Given the description of an element on the screen output the (x, y) to click on. 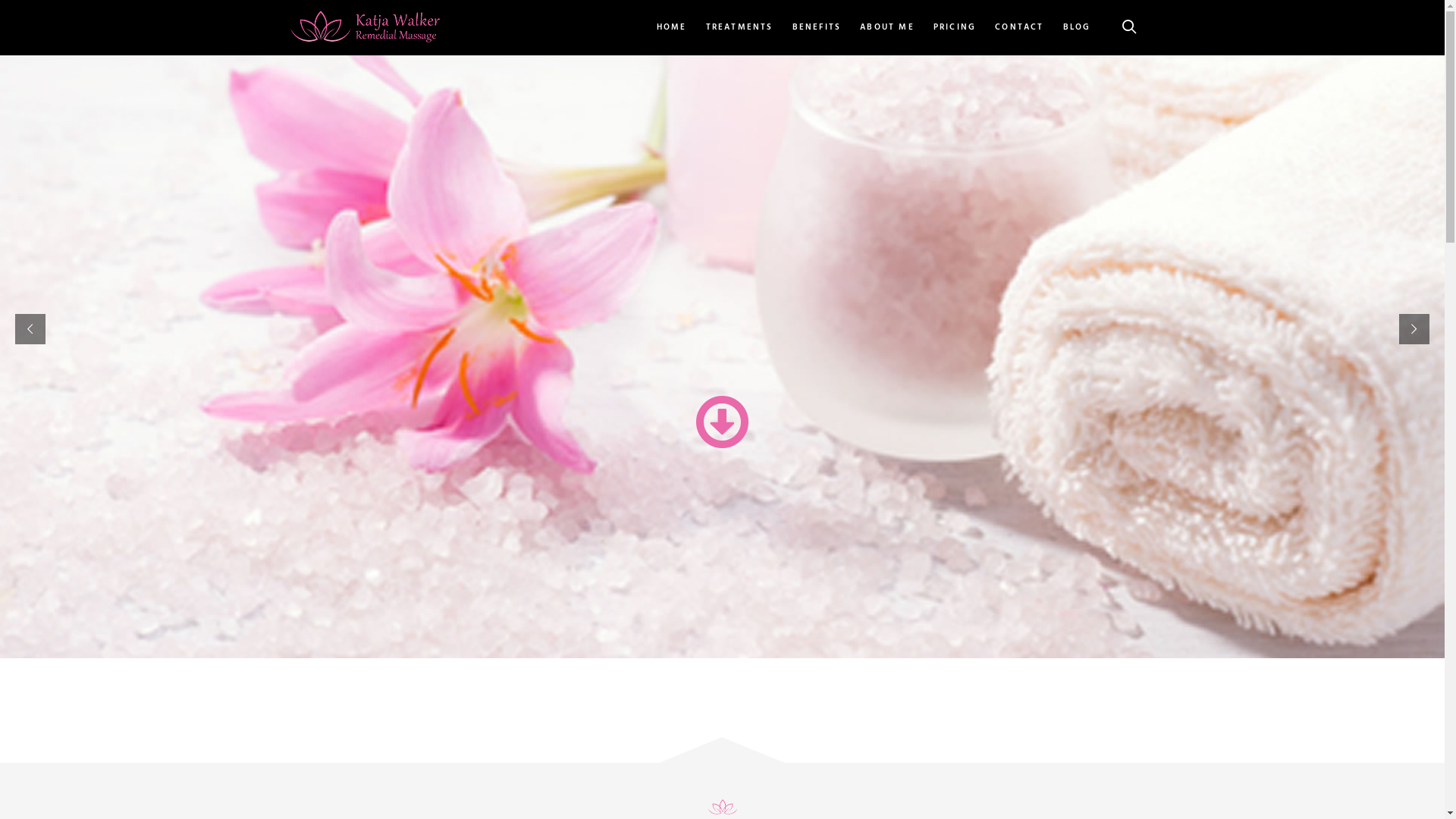
PRICING Element type: text (954, 27)
TREATMENTS Element type: text (739, 27)
ABOUT ME Element type: text (886, 27)
BENEFITS Element type: text (817, 27)
HOME Element type: text (675, 27)
BLOG Element type: text (1076, 27)
CONTACT Element type: text (1018, 27)
